Given the description of an element on the screen output the (x, y) to click on. 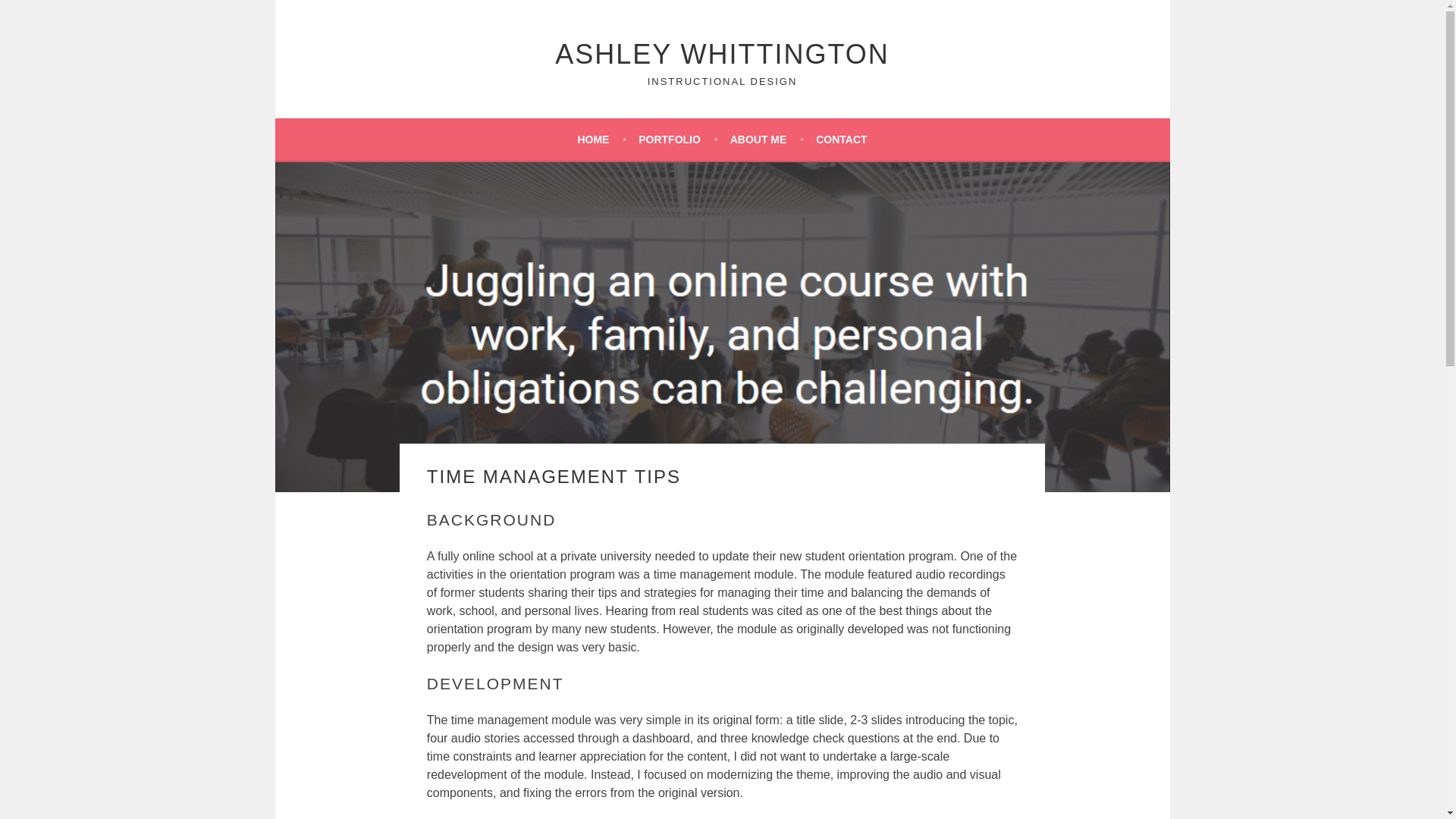
HOME (601, 139)
CONTACT (840, 139)
ASHLEY WHITTINGTON (721, 53)
Ashley Whittington (721, 53)
ABOUT ME (766, 139)
PORTFOLIO (678, 139)
